Given the description of an element on the screen output the (x, y) to click on. 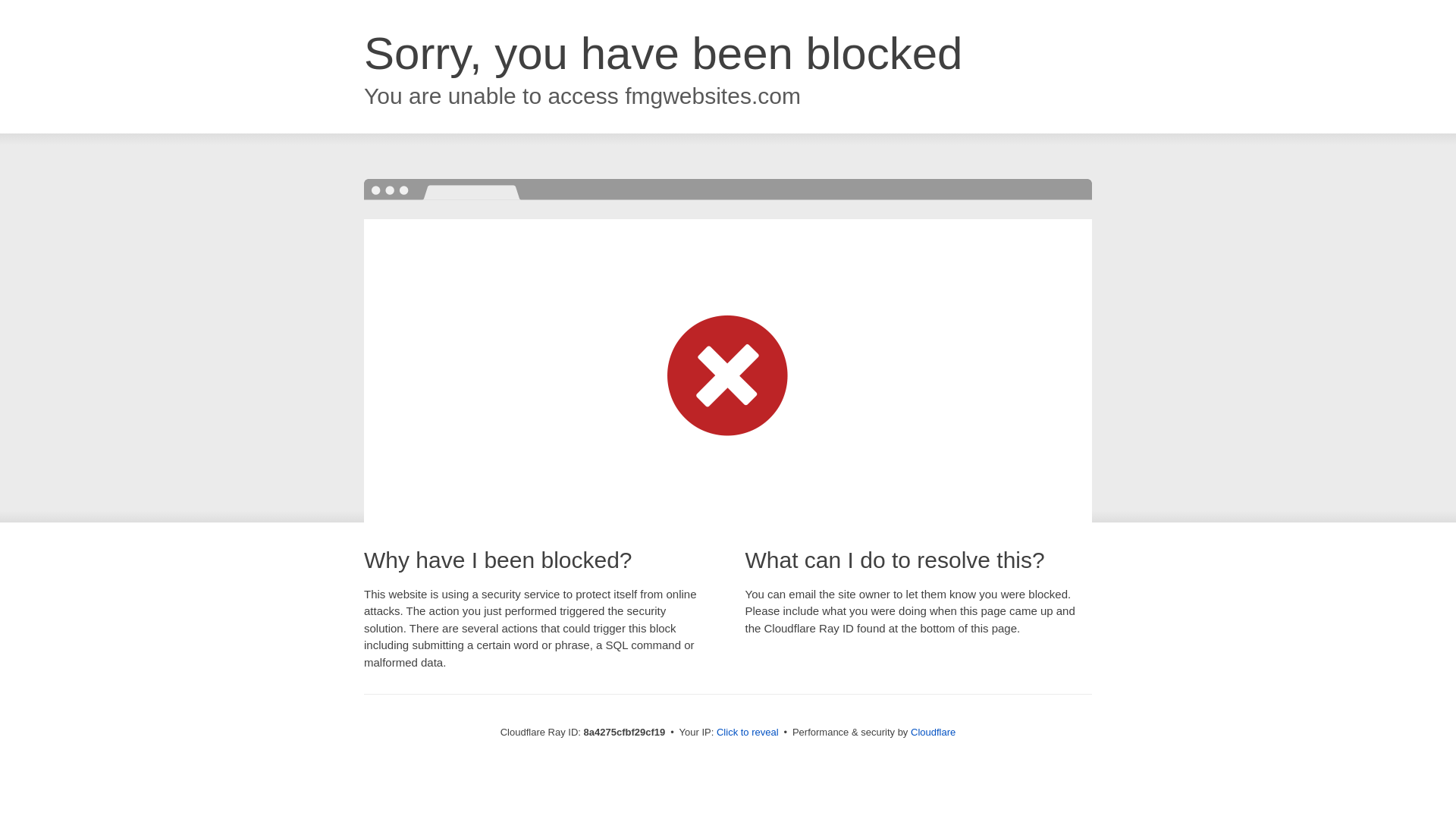
Cloudflare (933, 731)
Click to reveal (747, 732)
